Given the description of an element on the screen output the (x, y) to click on. 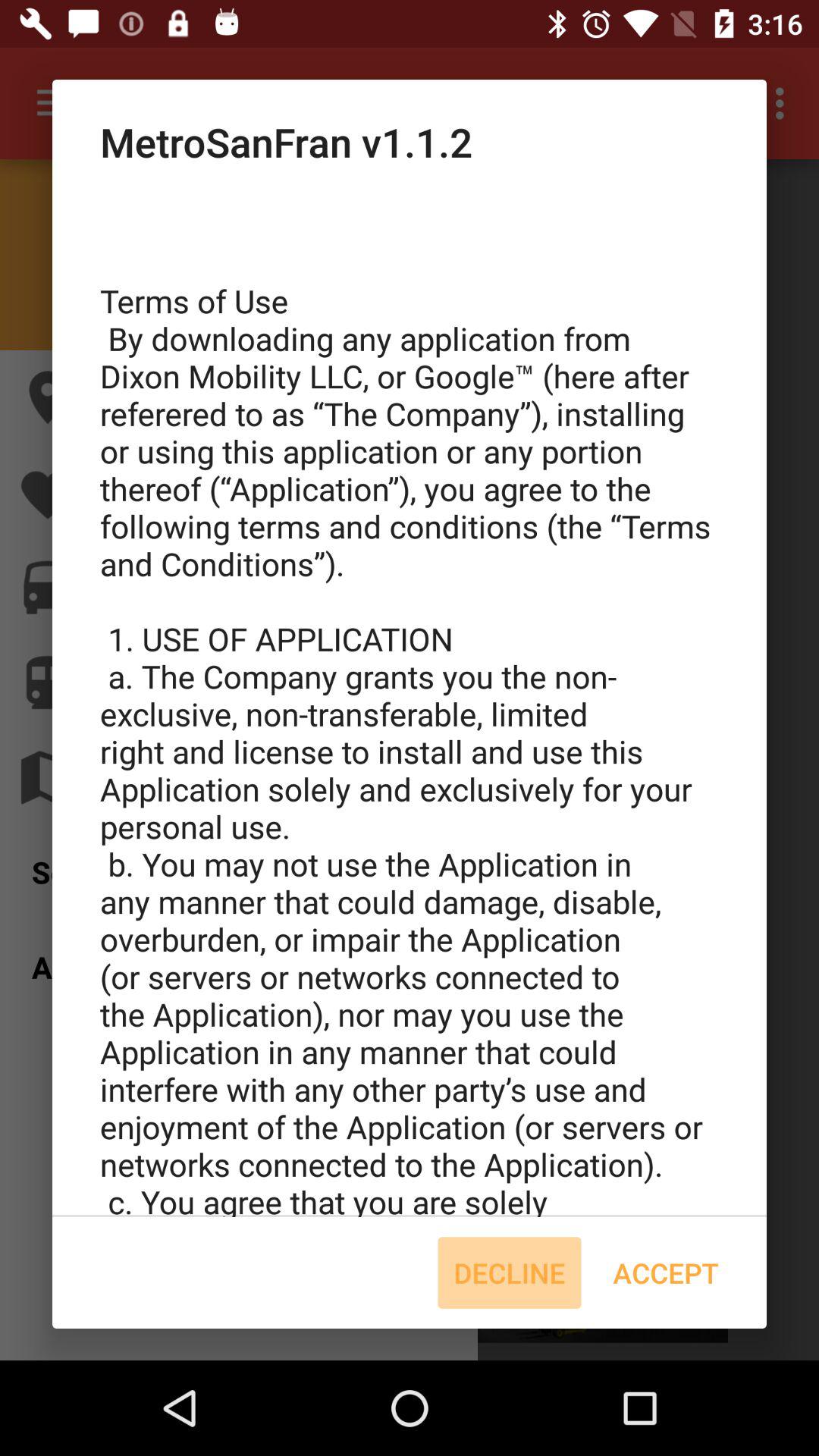
press icon at the bottom right corner (665, 1272)
